Given the description of an element on the screen output the (x, y) to click on. 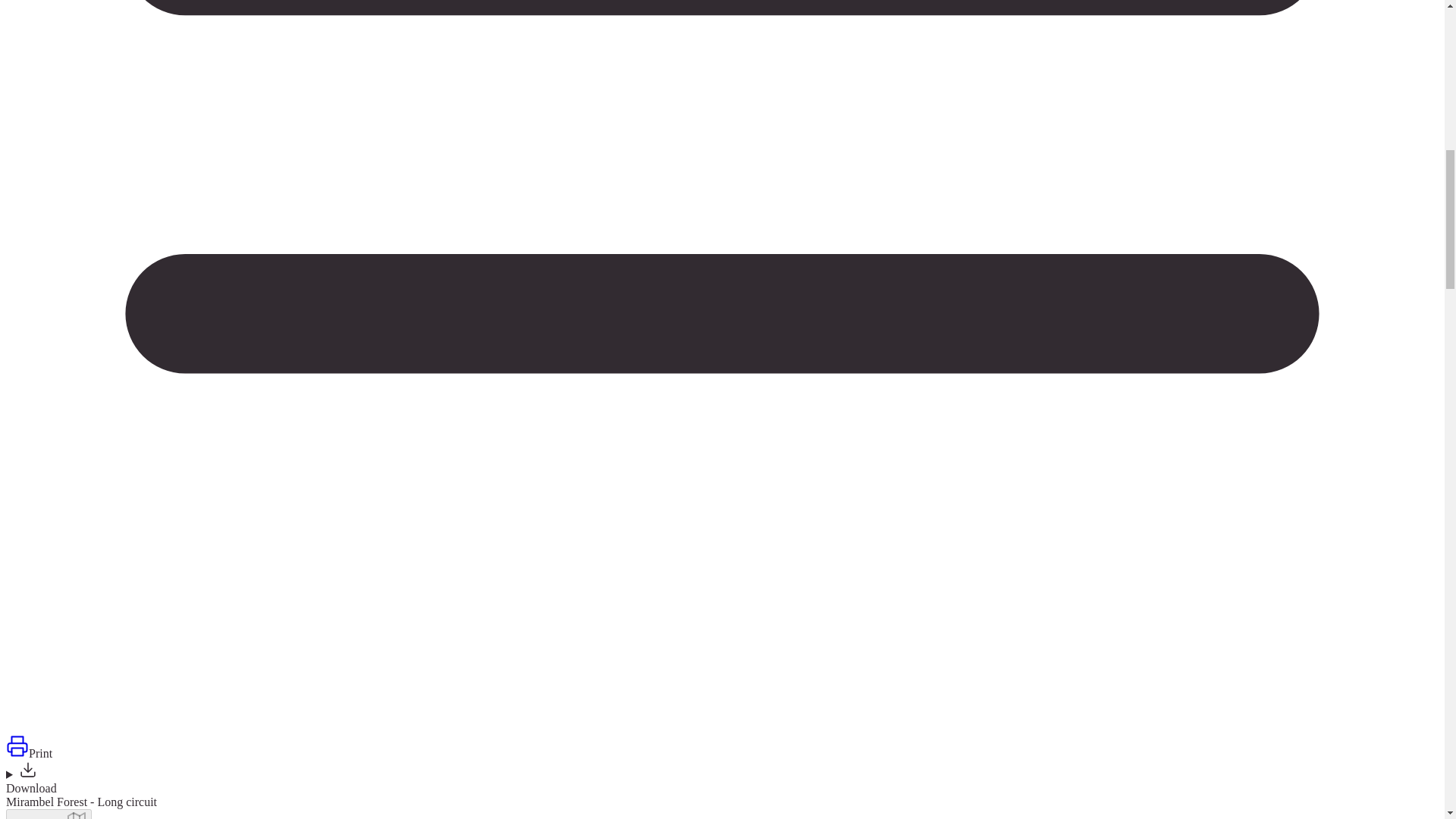
Display Map (48, 814)
